Given the description of an element on the screen output the (x, y) to click on. 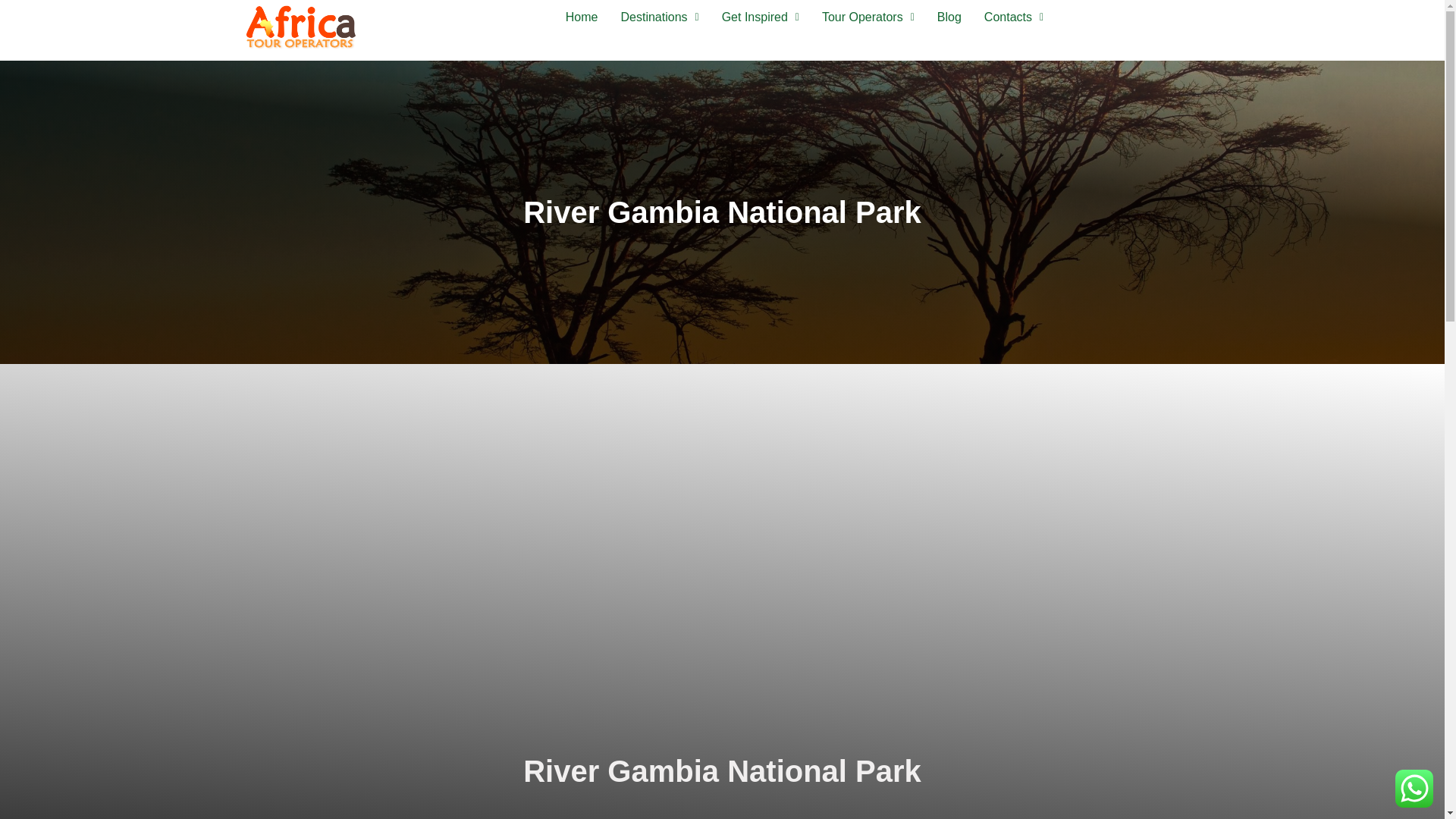
Destinations (660, 17)
Home (582, 17)
